Given the description of an element on the screen output the (x, y) to click on. 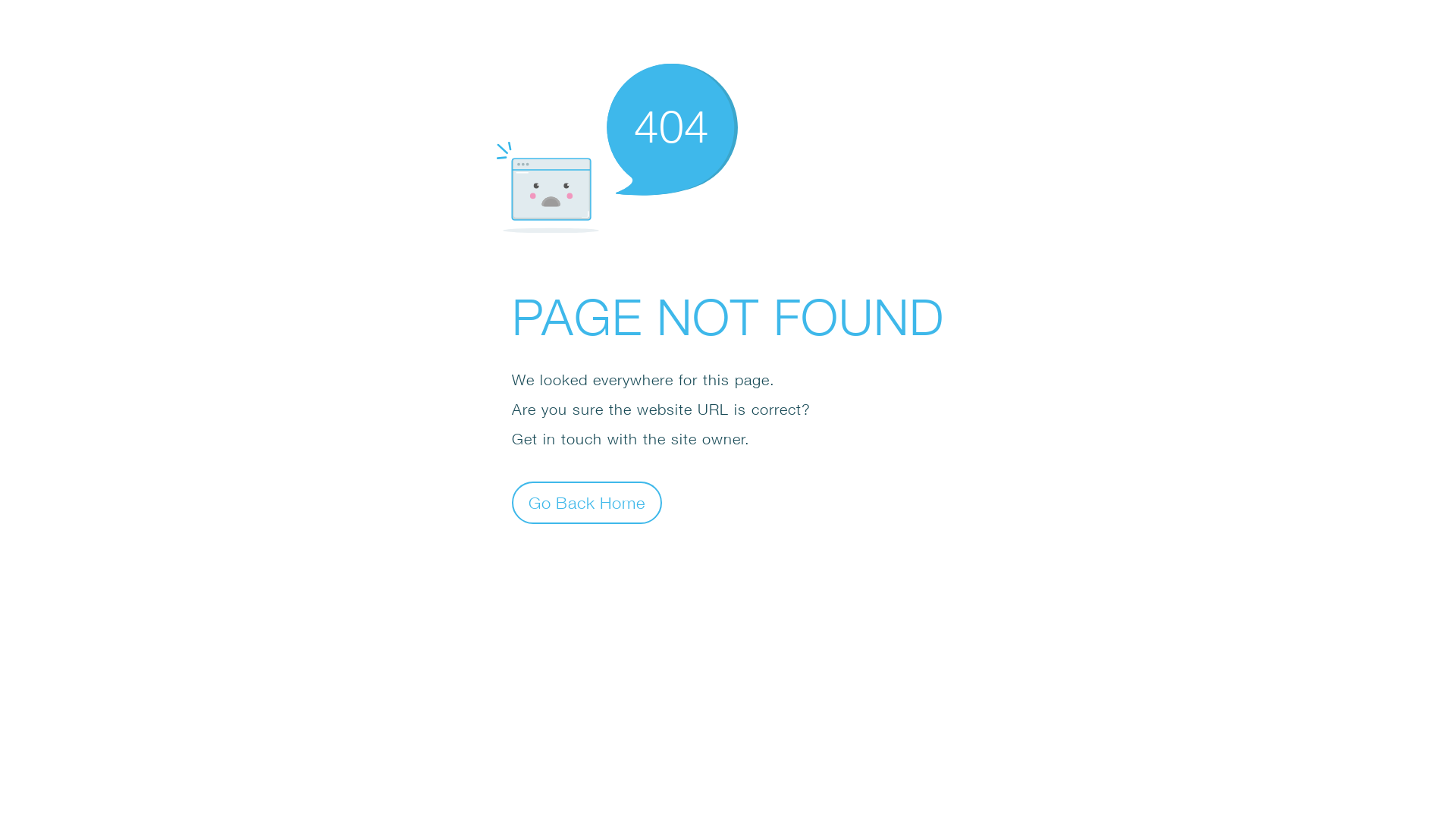
Go Back Home Element type: text (586, 502)
